Given the description of an element on the screen output the (x, y) to click on. 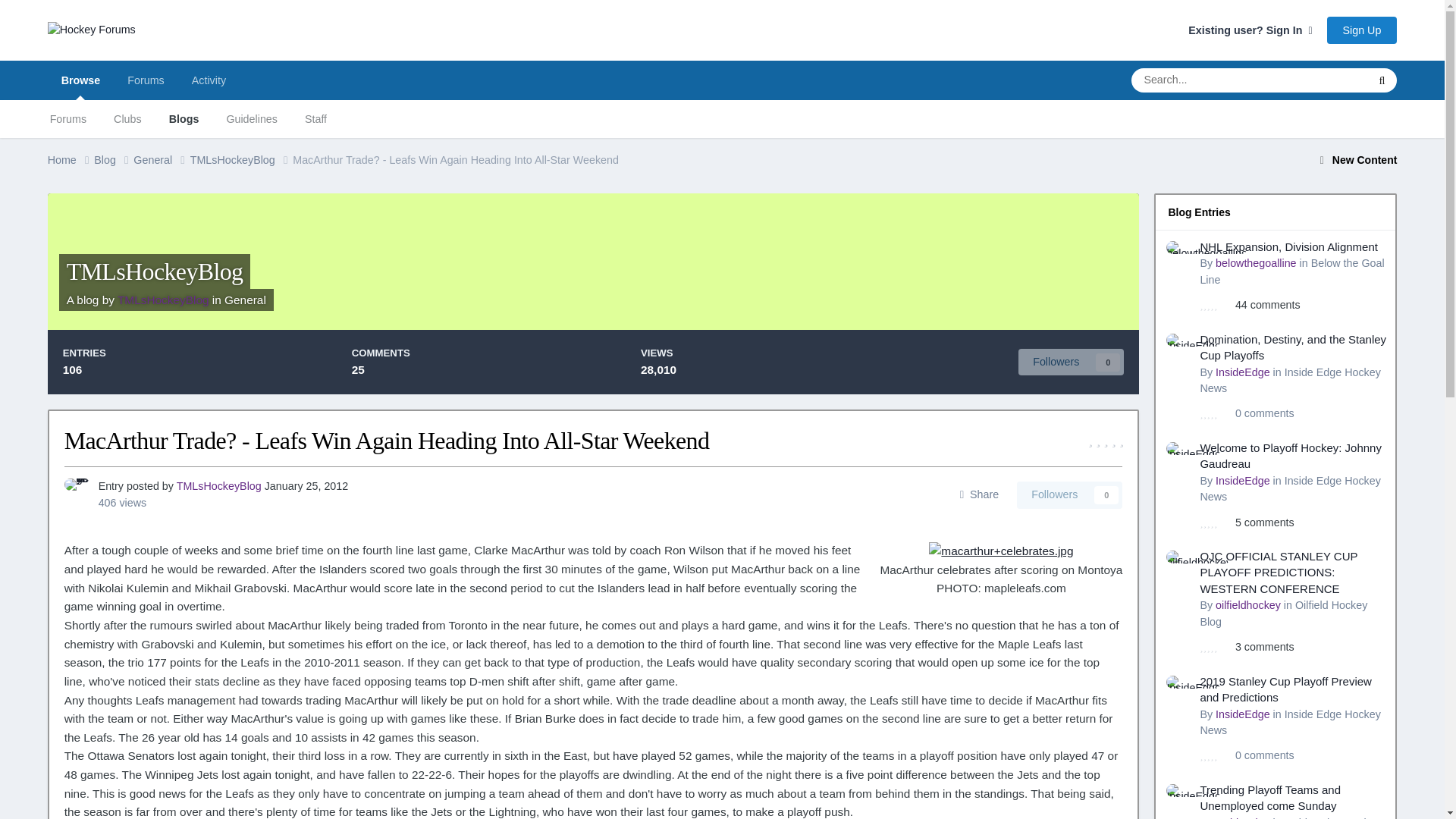
Go to TMLsHockeyBlog's profile (219, 485)
General (161, 160)
Go to the blog TMLsHockeyBlog (154, 271)
Blog (113, 160)
Go to TMLsHockeyBlog's profile (77, 491)
Home (71, 160)
Sign in to follow this (1069, 494)
TMLsHockeyBlog (163, 299)
Home (71, 160)
Forums (68, 118)
General (245, 299)
Forums (145, 79)
Go to TMLsHockeyBlog's profile (163, 299)
Sign in to follow this (1070, 361)
Browse (81, 79)
